Given the description of an element on the screen output the (x, y) to click on. 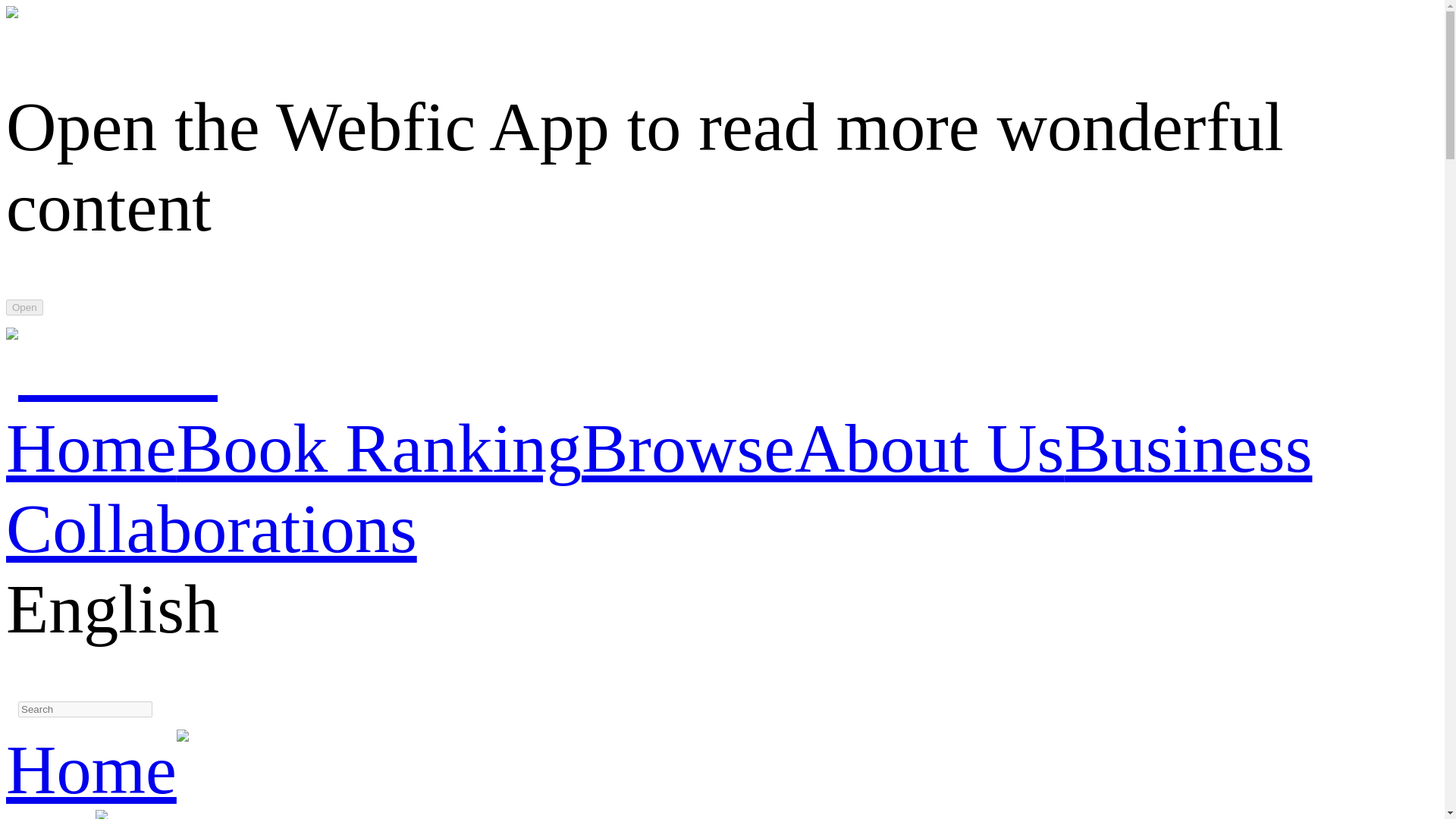
Book Ranking (378, 447)
Browse (687, 447)
About Us (929, 447)
All (50, 815)
Home (90, 769)
Open (24, 307)
Home (90, 447)
